Given the description of an element on the screen output the (x, y) to click on. 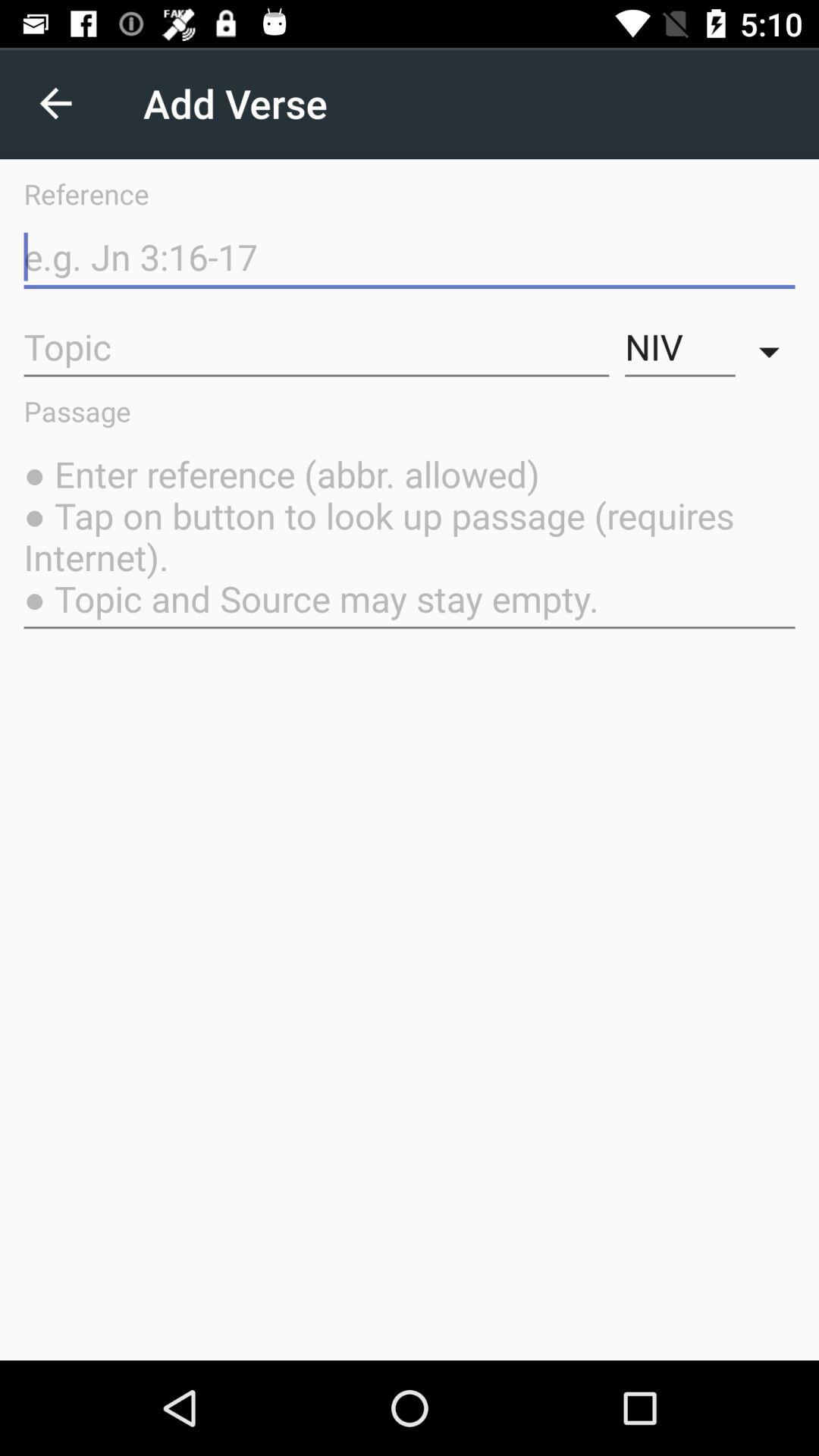
choose the item above reference icon (55, 103)
